Given the description of an element on the screen output the (x, y) to click on. 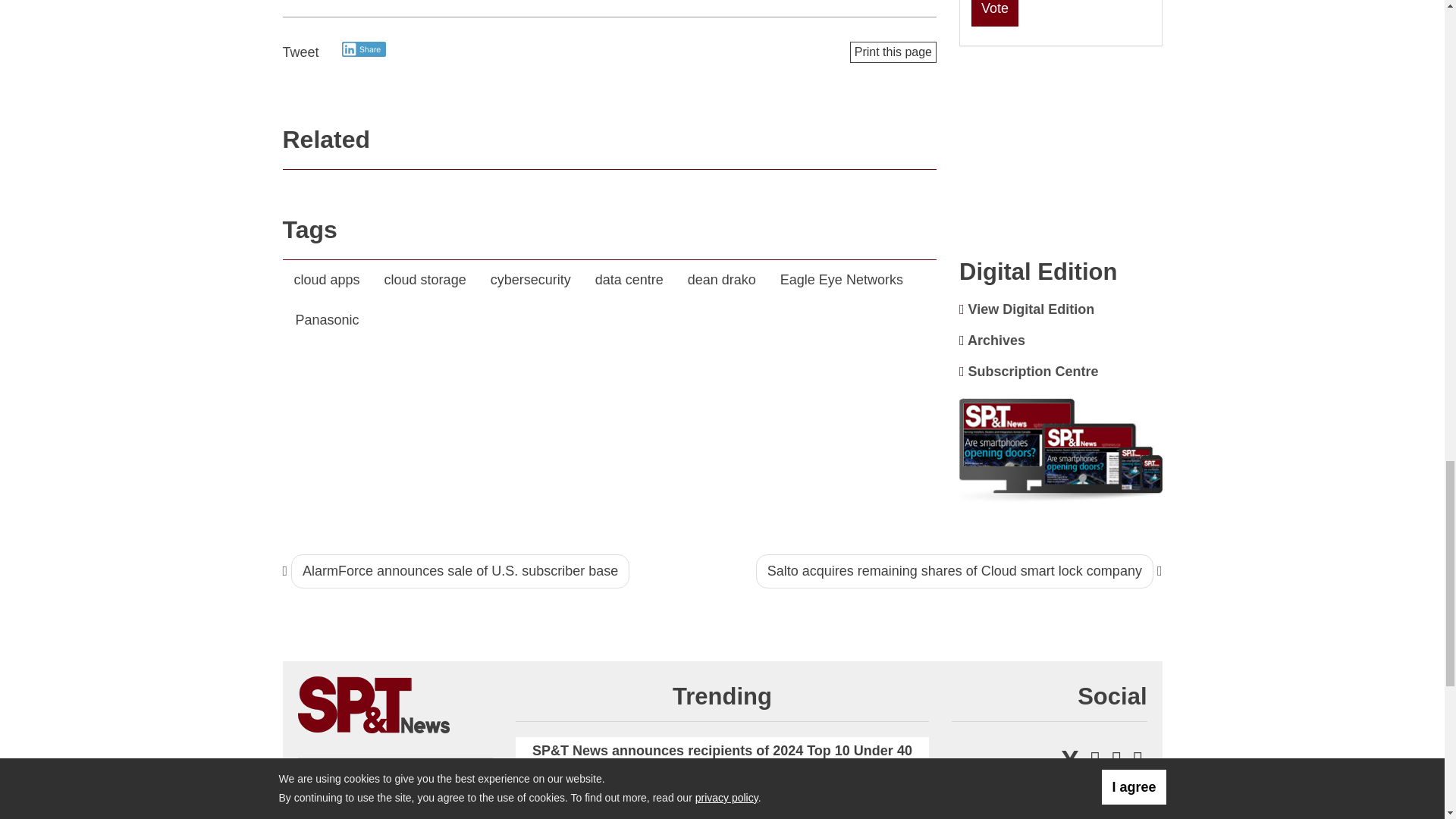
Vote (994, 12)
3rd party ad content (1060, 153)
